Given the description of an element on the screen output the (x, y) to click on. 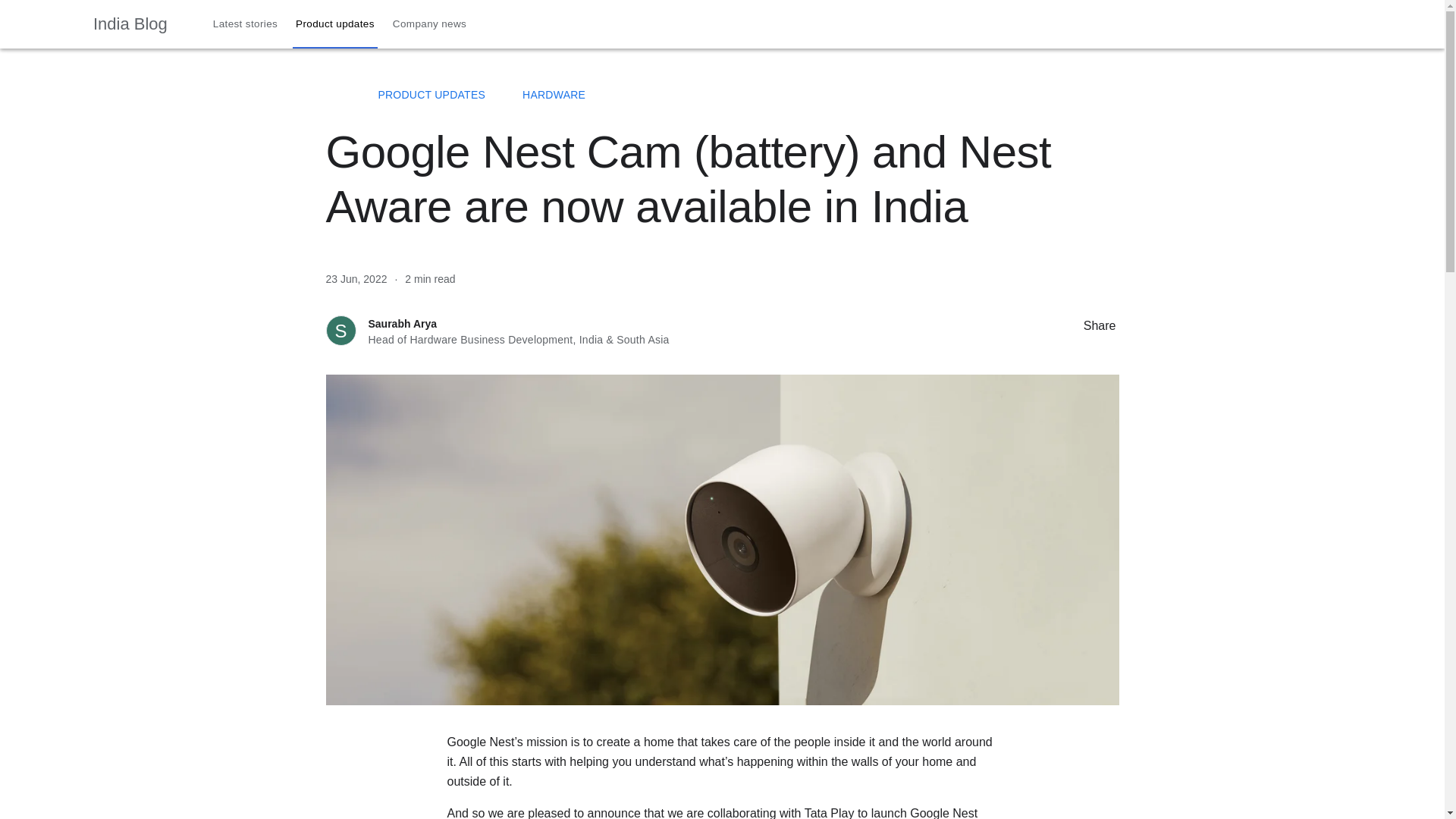
Latest stories (244, 24)
India Blog (333, 94)
Search (1386, 23)
Product updates (335, 24)
PRODUCT UPDATES (431, 94)
Share this (1068, 325)
Secondary menu (1420, 23)
Share (1088, 325)
India Blog (130, 24)
PRODUCT UPDATES HARDWARE (722, 94)
